Given the description of an element on the screen output the (x, y) to click on. 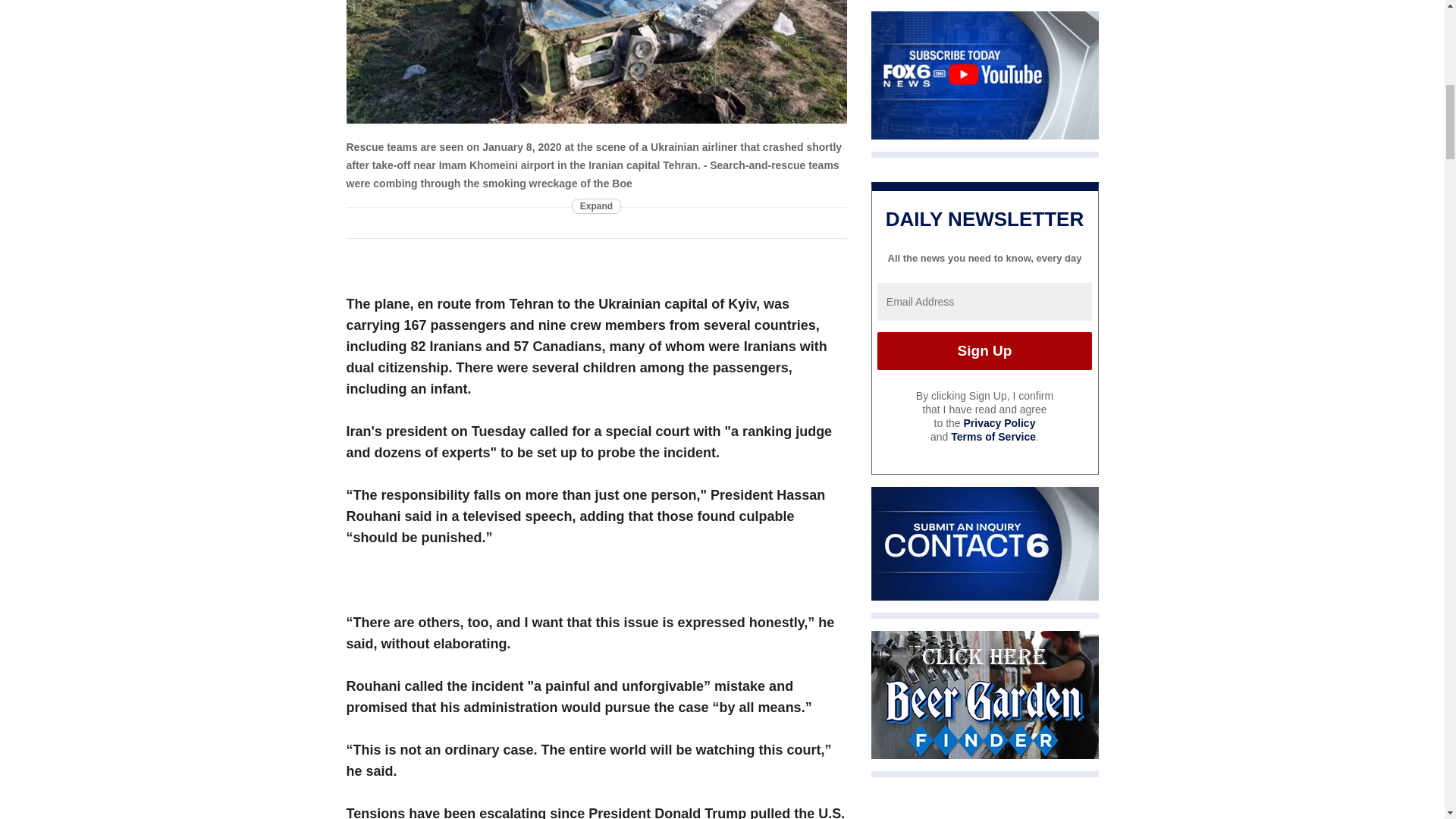
Sign Up (984, 351)
